Given the description of an element on the screen output the (x, y) to click on. 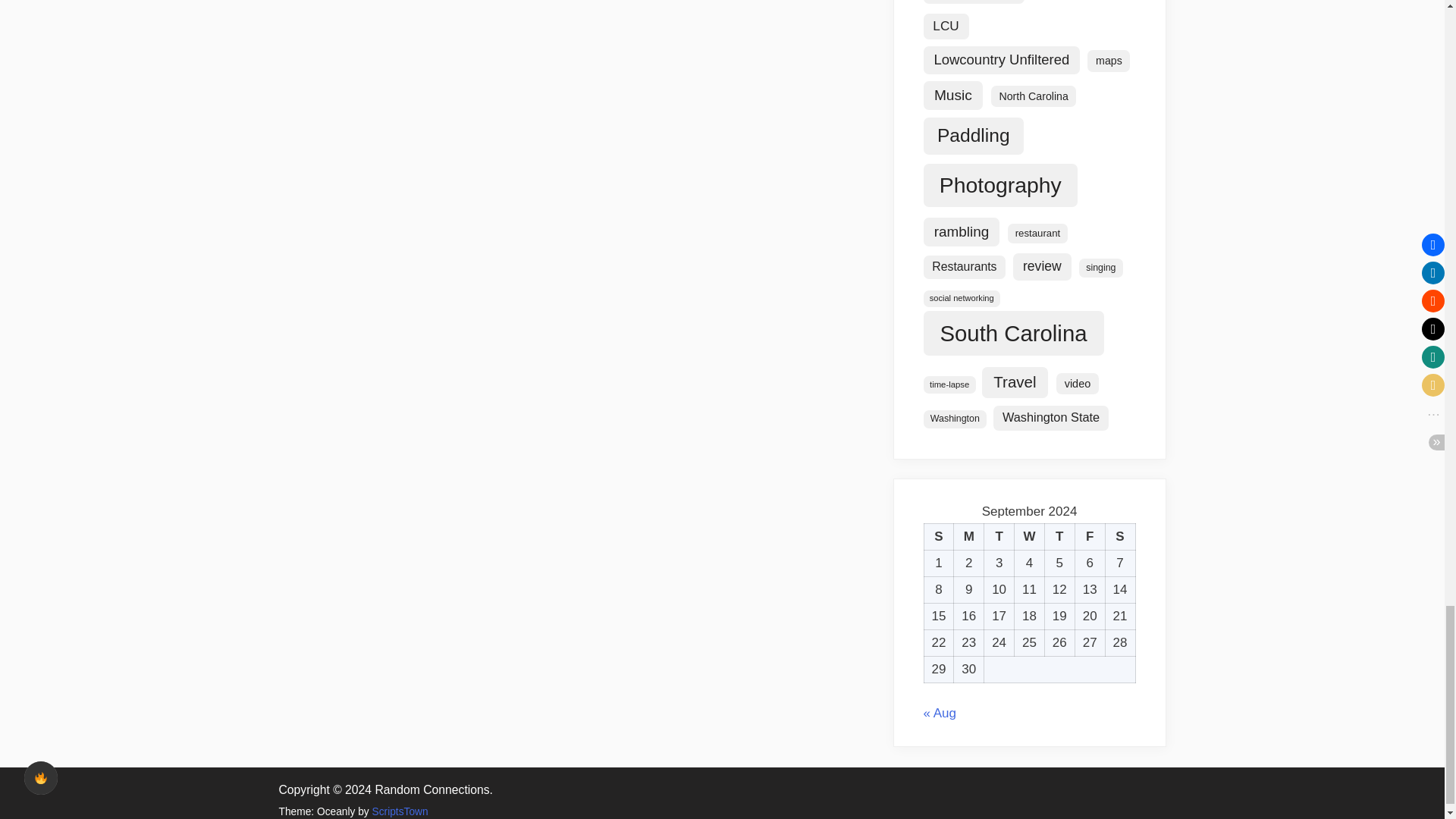
Saturday (1120, 537)
Wednesday (1029, 537)
Thursday (1058, 537)
Sunday (938, 537)
Monday (968, 537)
Friday (1089, 537)
Tuesday (999, 537)
